Given the description of an element on the screen output the (x, y) to click on. 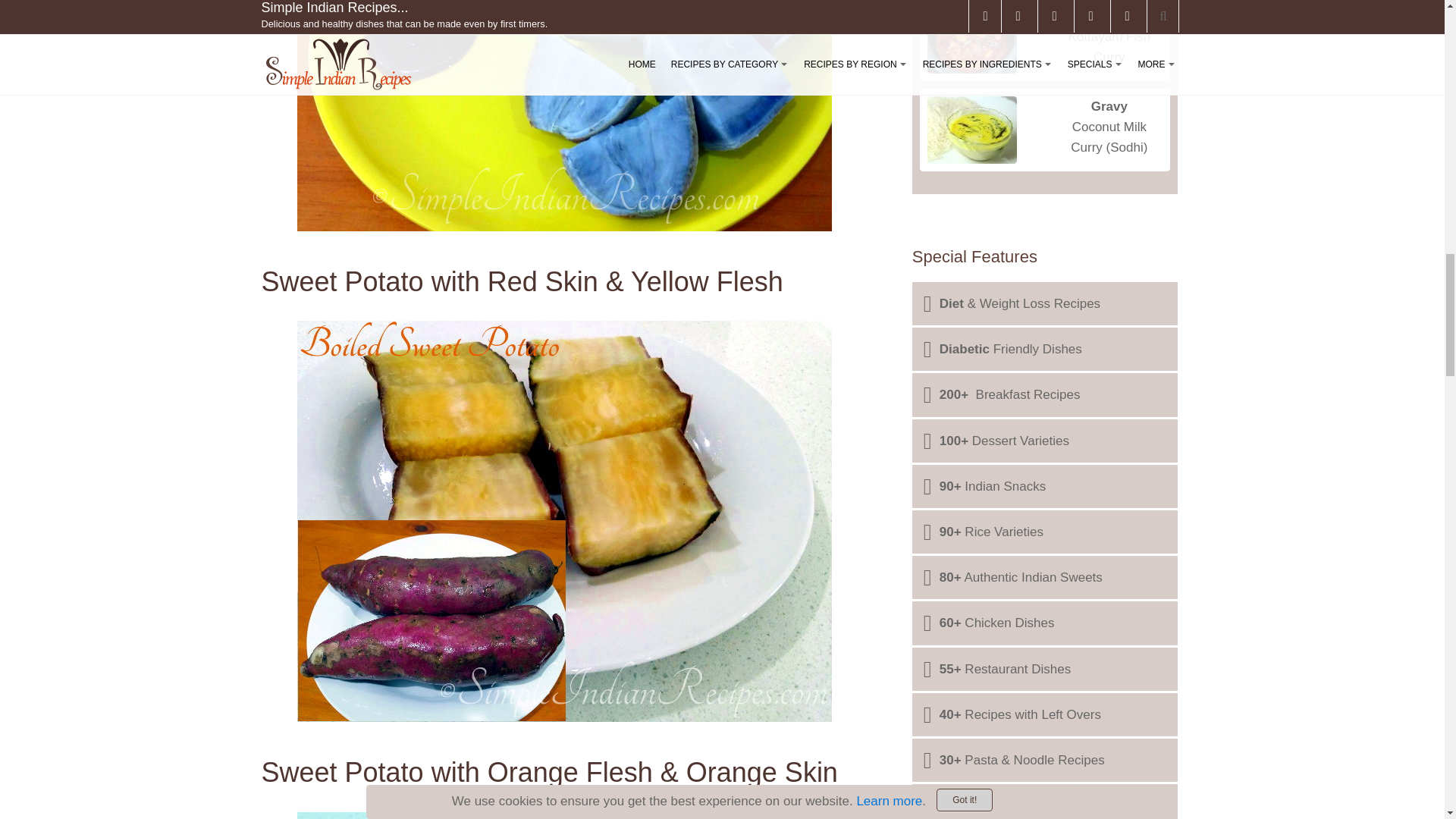
Breakfast recipes and Tiffin varieties (1044, 394)
Diabetic Recipes (1044, 349)
Diet Recipes (1044, 303)
